Given the description of an element on the screen output the (x, y) to click on. 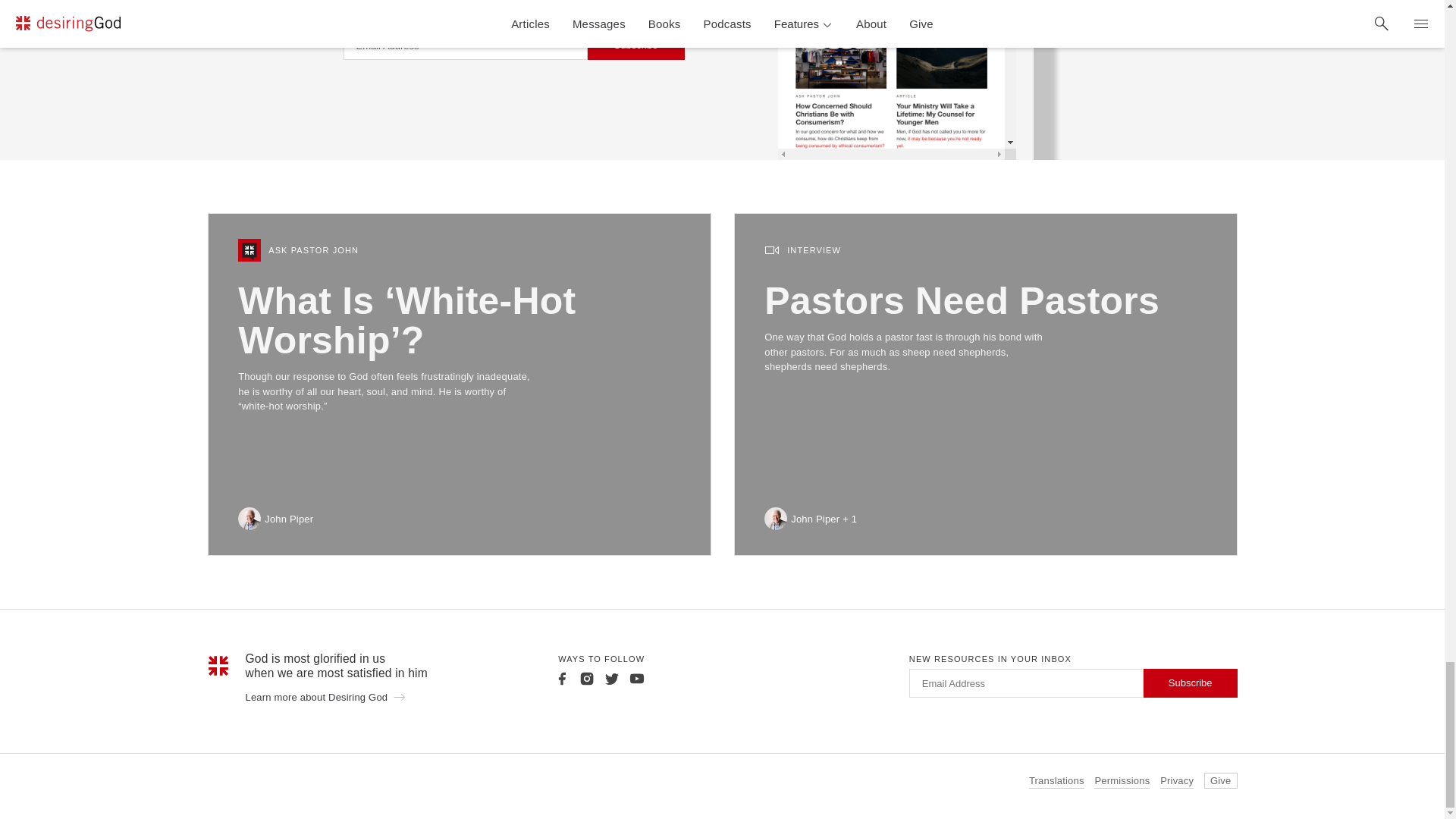
Twitter (612, 678)
Mark - Large (218, 665)
Arrow (399, 696)
